Given the description of an element on the screen output the (x, y) to click on. 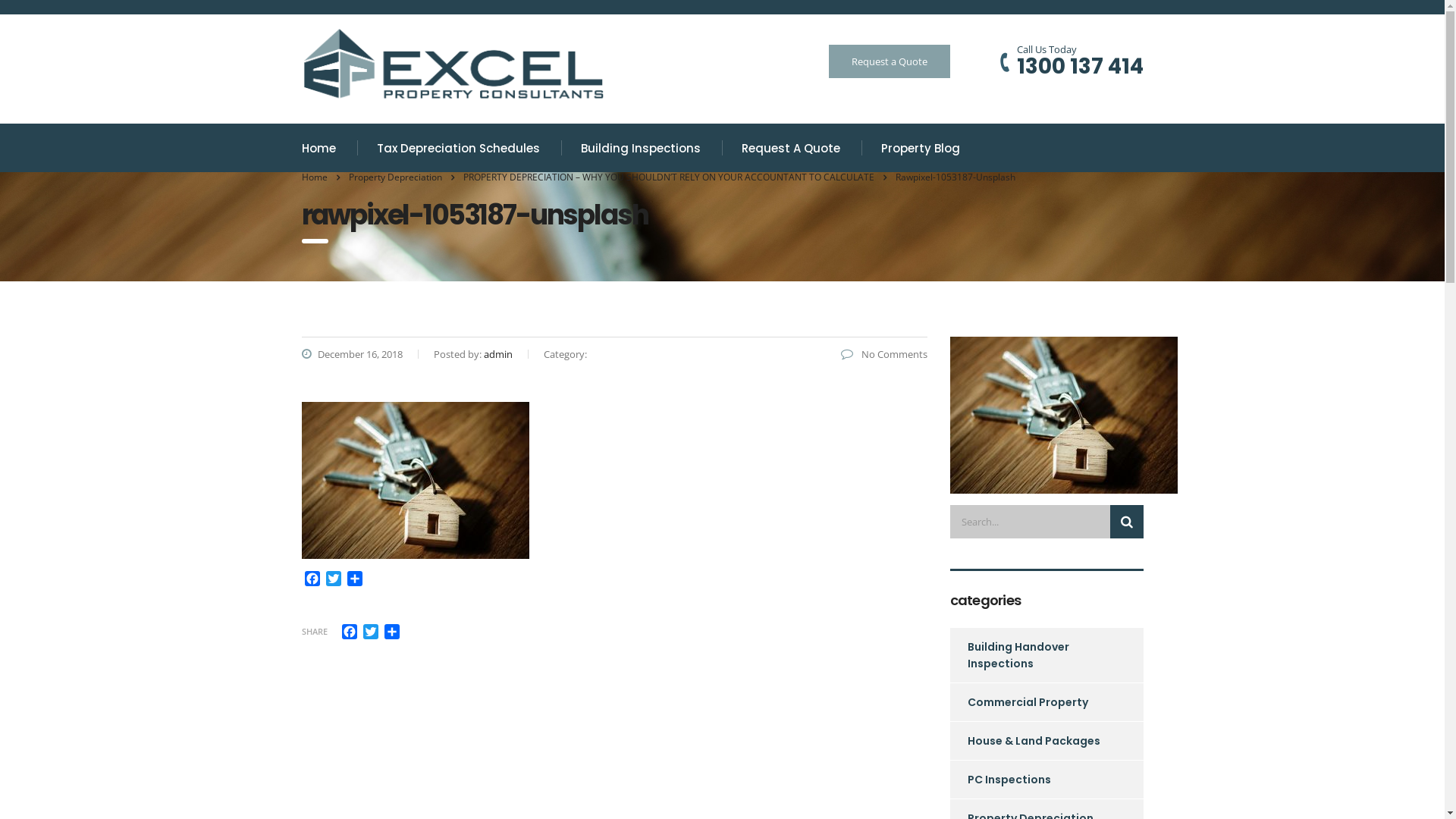
Property Depreciation Element type: text (395, 176)
Request a Quote Element type: text (888, 61)
Twitter Element type: text (333, 580)
Home Element type: text (314, 176)
Facebook Element type: text (348, 631)
Commercial Property Element type: text (1018, 702)
Tax Depreciation Schedules Element type: text (458, 147)
Twitter Element type: text (369, 631)
Building Handover Inspections Element type: text (1037, 654)
Share Element type: text (390, 631)
Facebook Element type: text (312, 580)
Request A Quote Element type: text (791, 147)
Home Element type: text (319, 147)
Property Blog Element type: text (921, 147)
House & Land Packages Element type: text (1024, 740)
Building Inspections Element type: text (641, 147)
Share Element type: text (354, 580)
PC Inspections Element type: text (999, 779)
No Comments Element type: text (883, 353)
